Given the description of an element on the screen output the (x, y) to click on. 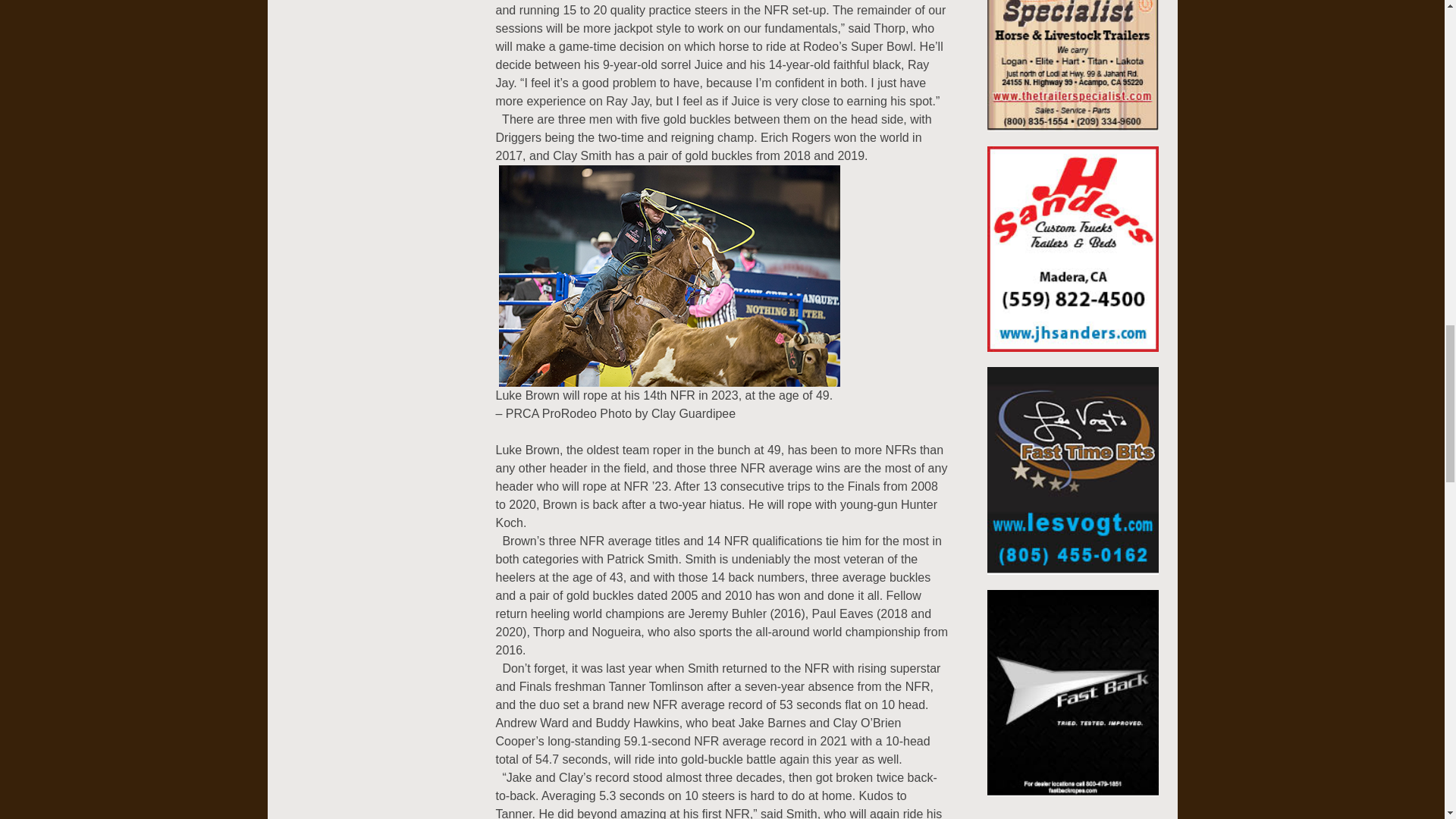
JH Sanders (1072, 255)
Les Vogt (1072, 477)
The Trailer Specialist (1072, 33)
